Given the description of an element on the screen output the (x, y) to click on. 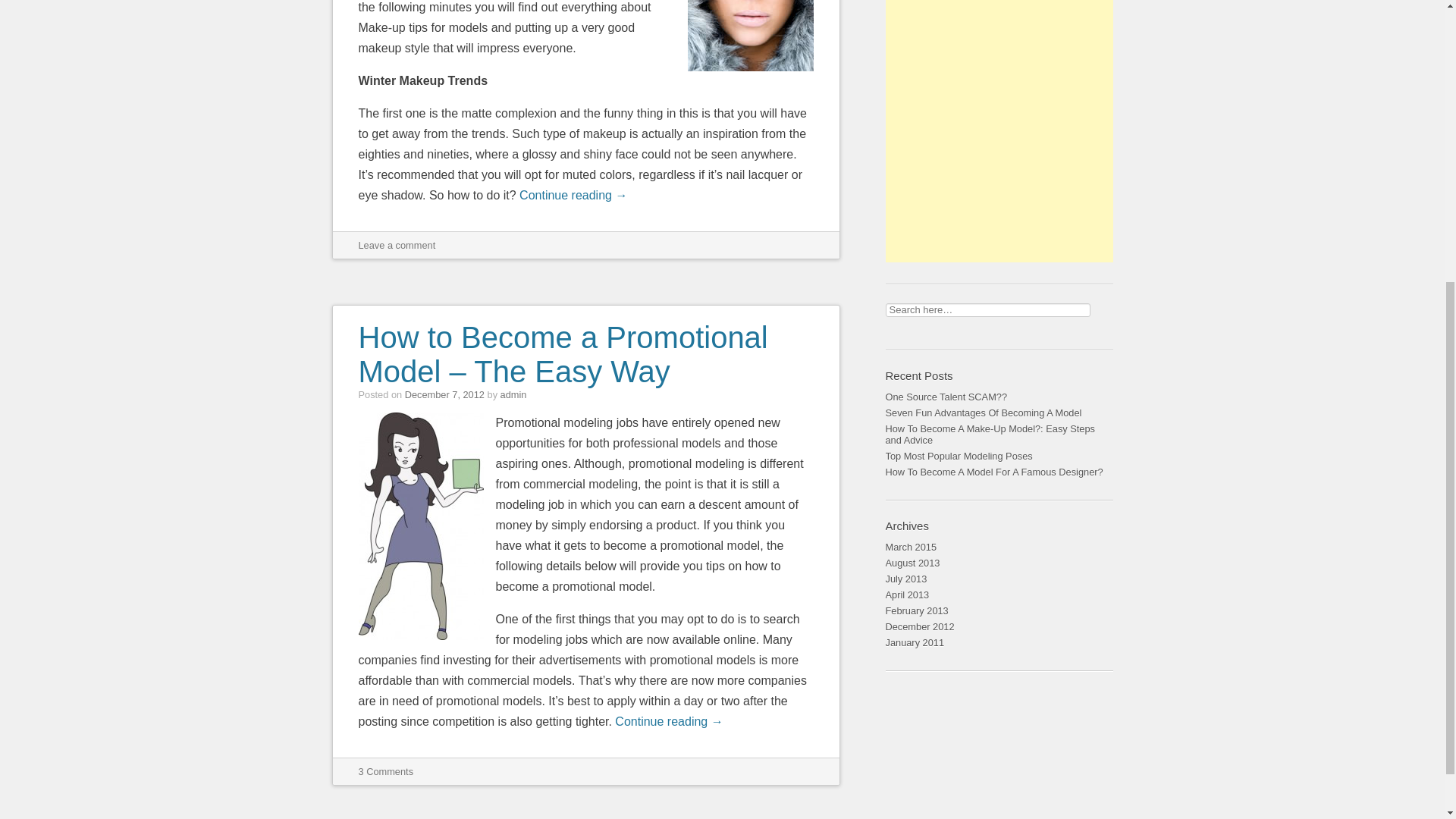
Seven Fun Advantages Of Becoming A Model (999, 412)
3:17 pm (444, 394)
admin (513, 394)
March 2015 (999, 546)
August 2013 (999, 563)
February 2013 (999, 610)
Leave a comment (396, 244)
July 2013 (999, 578)
makeup-tips (749, 35)
January 2011 (999, 642)
